Given the description of an element on the screen output the (x, y) to click on. 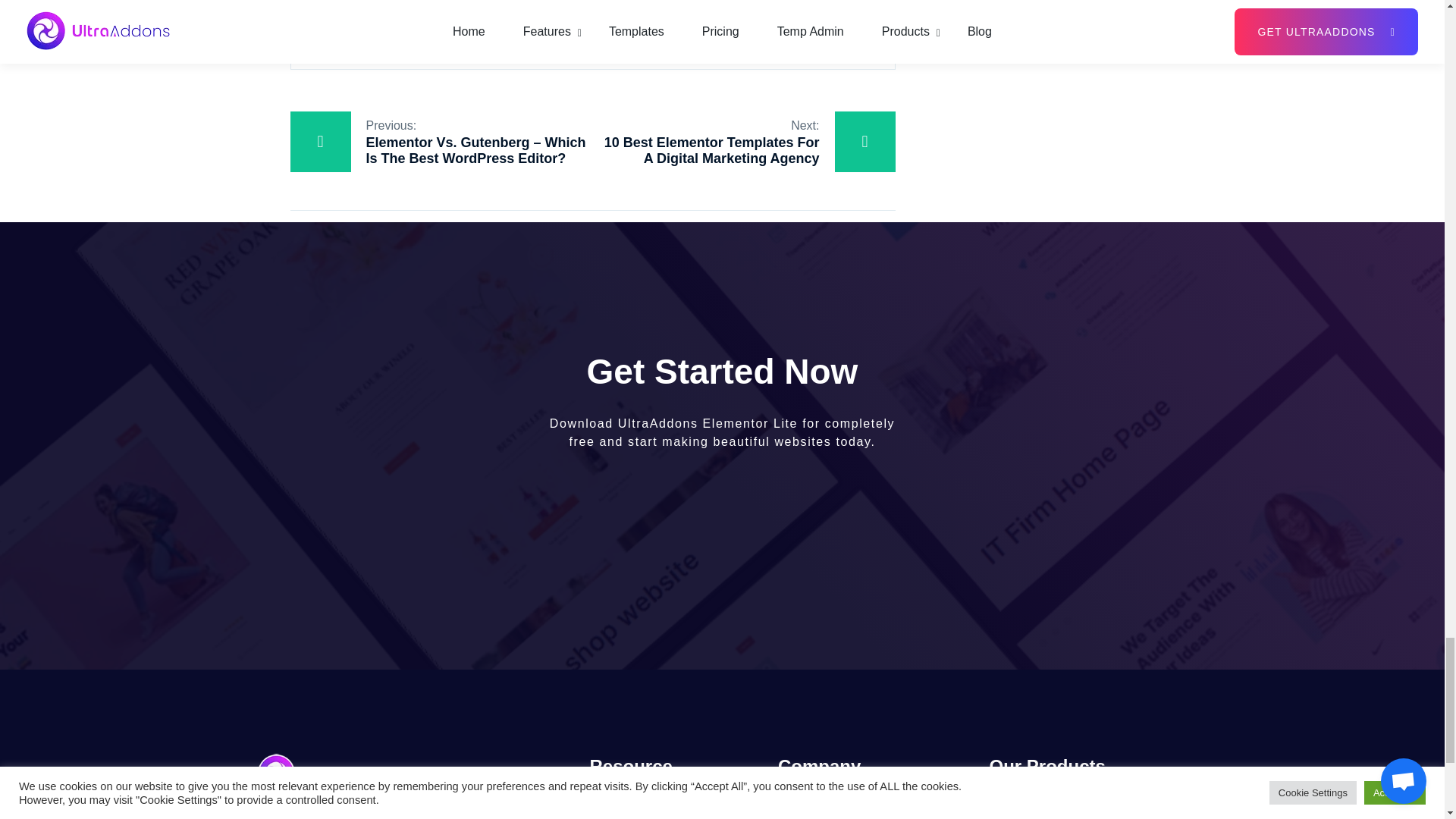
Tags: (458, 27)
Twitter (717, 28)
Facebook (676, 28)
